Given the description of an element on the screen output the (x, y) to click on. 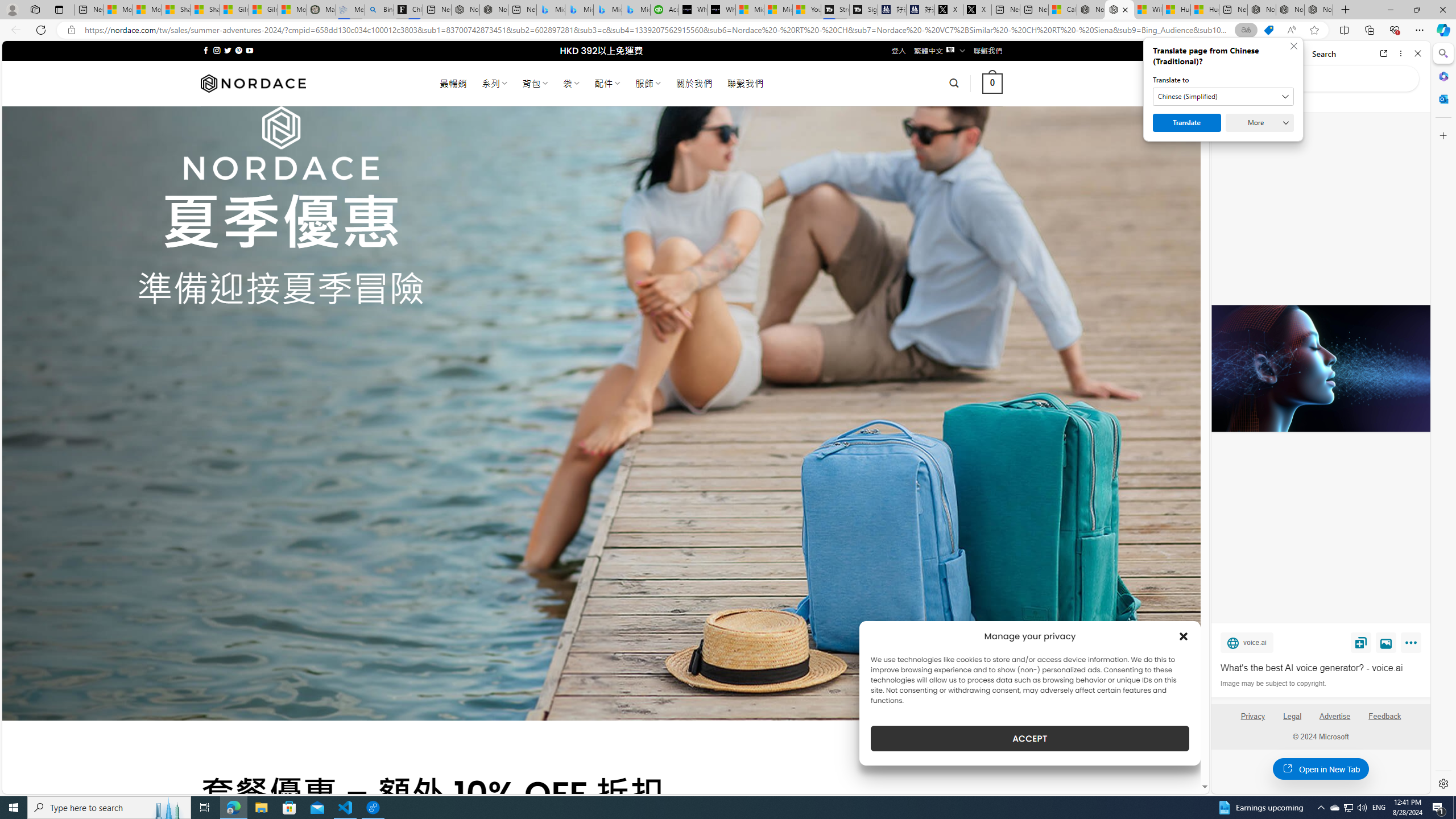
Close (1417, 53)
Customize (1442, 135)
Minimize (1390, 9)
Privacy (1252, 715)
Follow on Facebook (205, 50)
Forward (1242, 53)
Read aloud this page (Ctrl+Shift+U) (1291, 29)
Gilma and Hector both pose tropical trouble for Hawaii (263, 9)
  0   (992, 83)
Advertise (1335, 715)
